Given the description of an element on the screen output the (x, y) to click on. 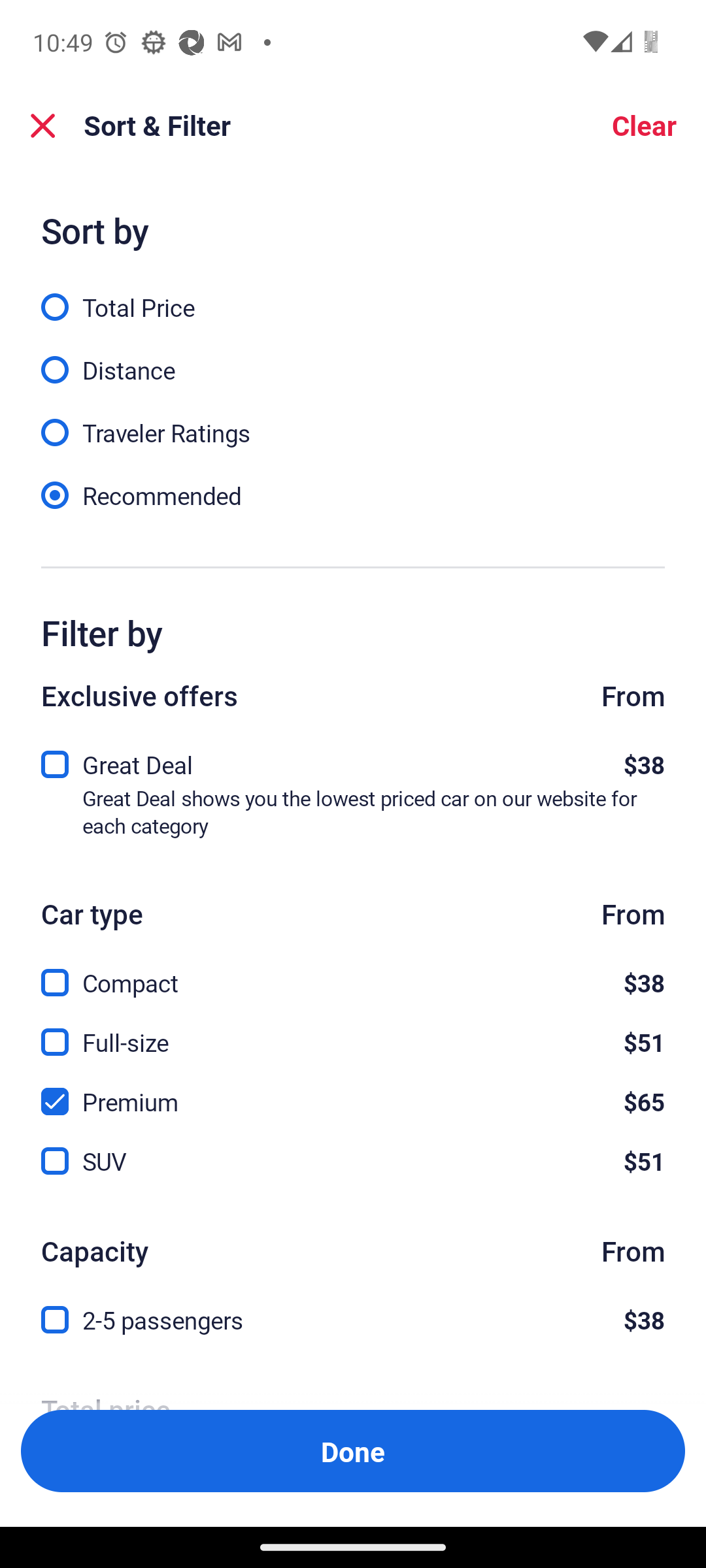
Clear (643, 125)
Close Sort and Filter (43, 125)
Total Price (352, 295)
Distance (352, 358)
Traveler Ratings (352, 421)
Compact, $38 Compact $38 (352, 971)
Full-size, $51 Full-size $51 (352, 1031)
Premium, $65 Premium $65 (352, 1091)
SUV, $51 SUV $51 (352, 1161)
2-5 passengers, $38 2-5 passengers $38 (352, 1320)
Apply and close Sort and Filter Done (352, 1450)
